Given the description of an element on the screen output the (x, y) to click on. 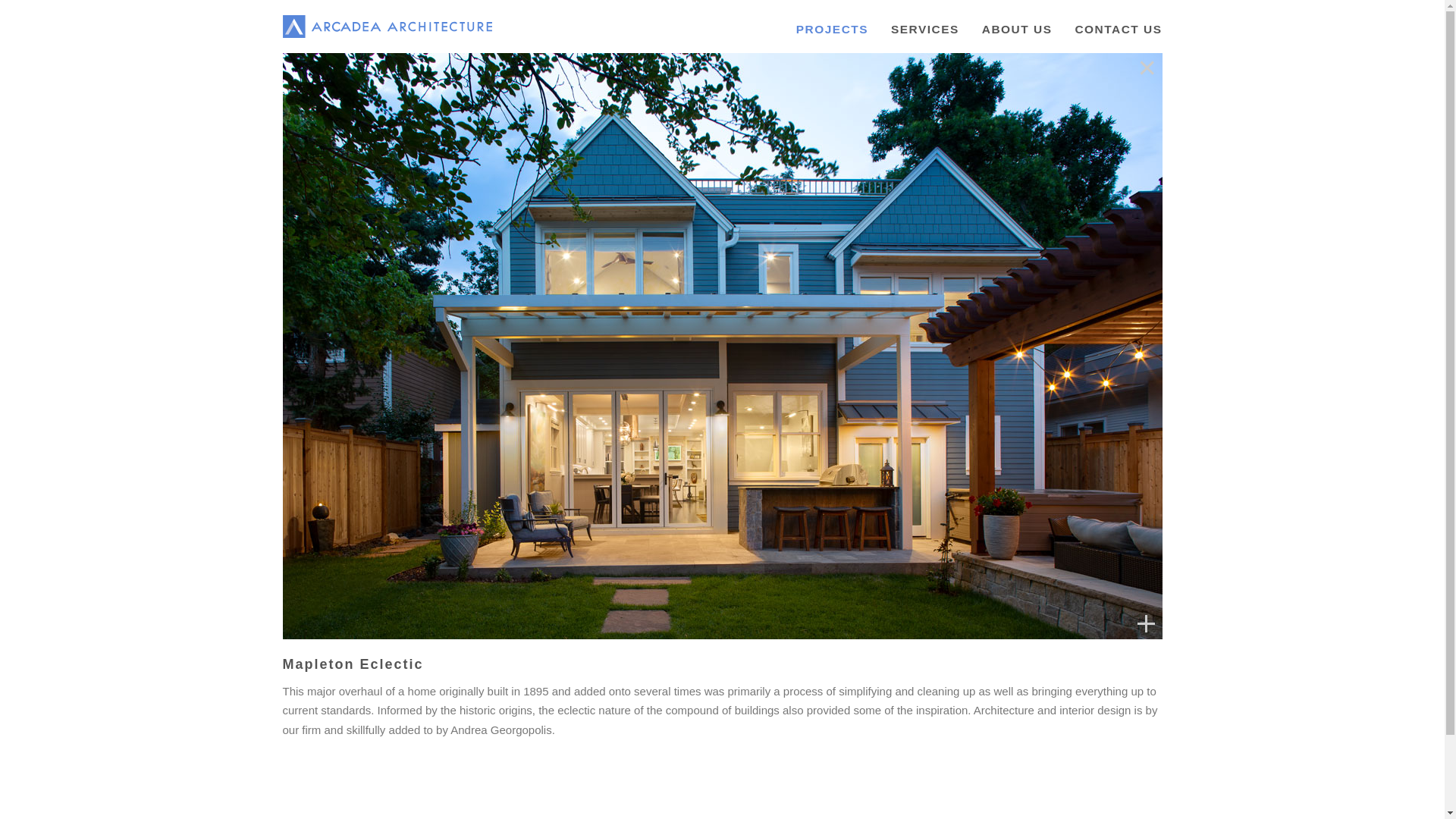
CONTACT US (1106, 33)
PROJECTS (820, 33)
13 (796, 614)
5 (687, 614)
12 (782, 614)
ABOUT US (1005, 33)
SERVICES (913, 33)
8 (728, 614)
7 (715, 614)
11 (769, 614)
